Given the description of an element on the screen output the (x, y) to click on. 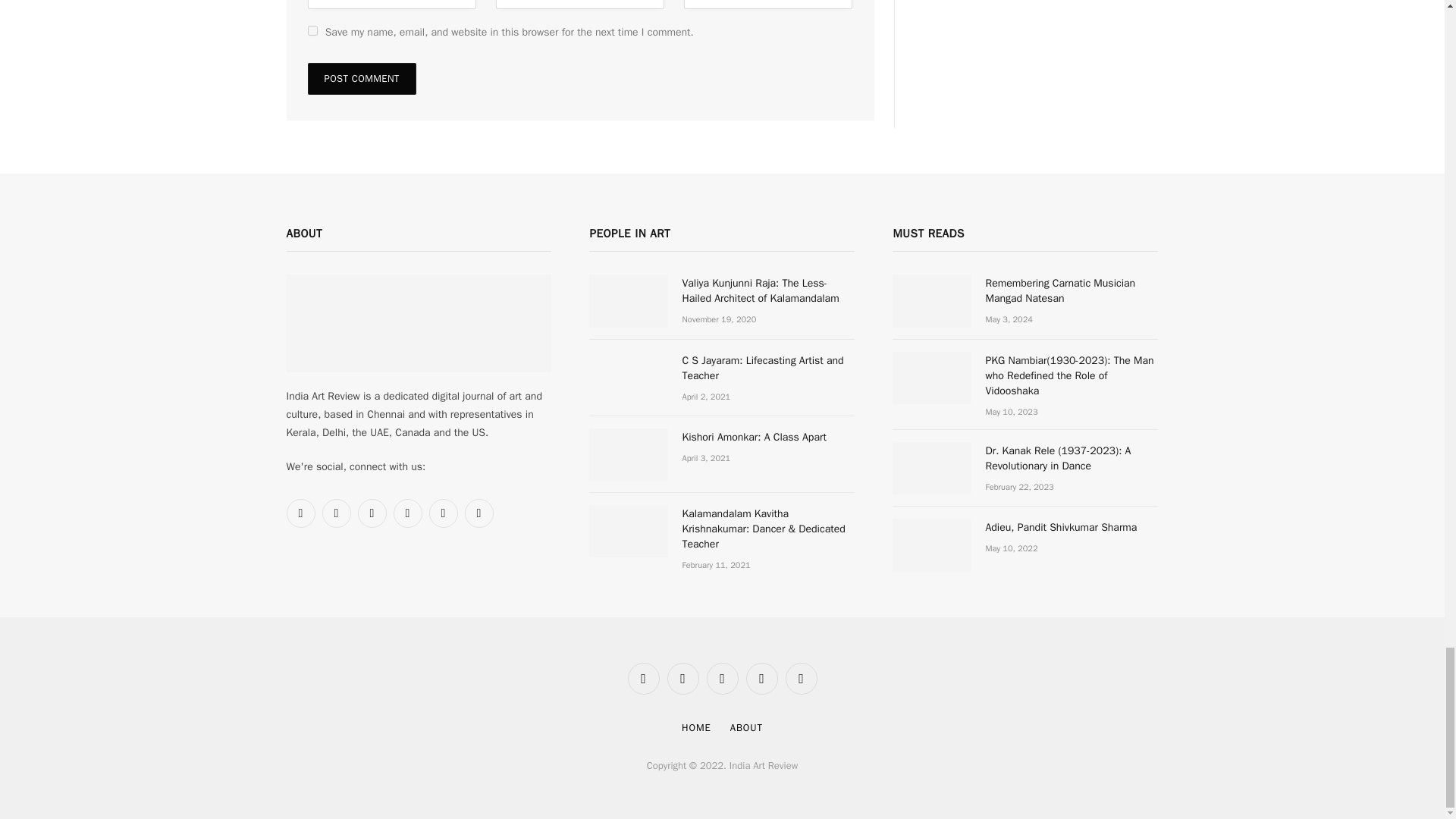
yes (312, 30)
Post Comment (361, 79)
